Given the description of an element on the screen output the (x, y) to click on. 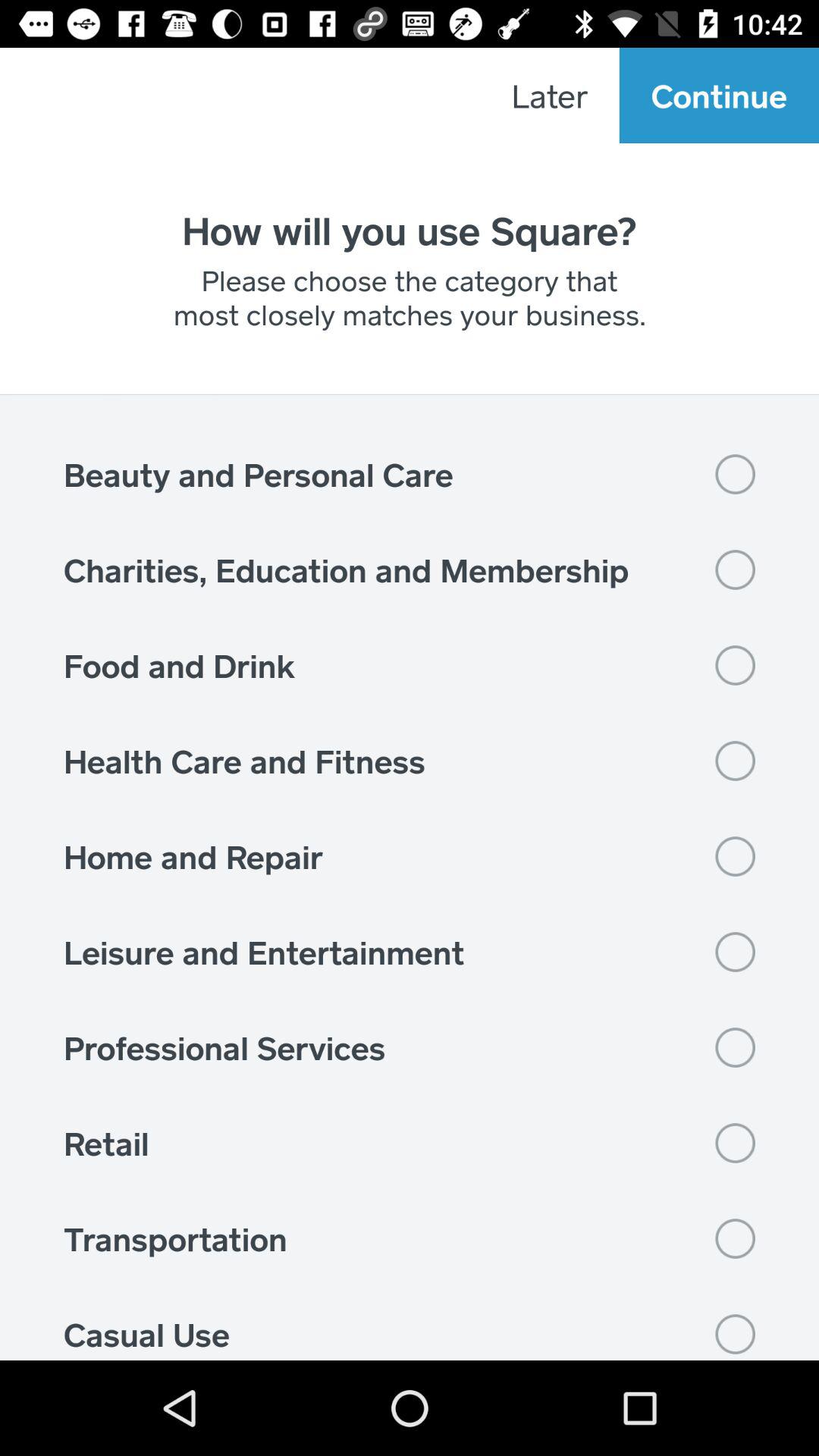
turn on charities education and item (409, 569)
